Given the description of an element on the screen output the (x, y) to click on. 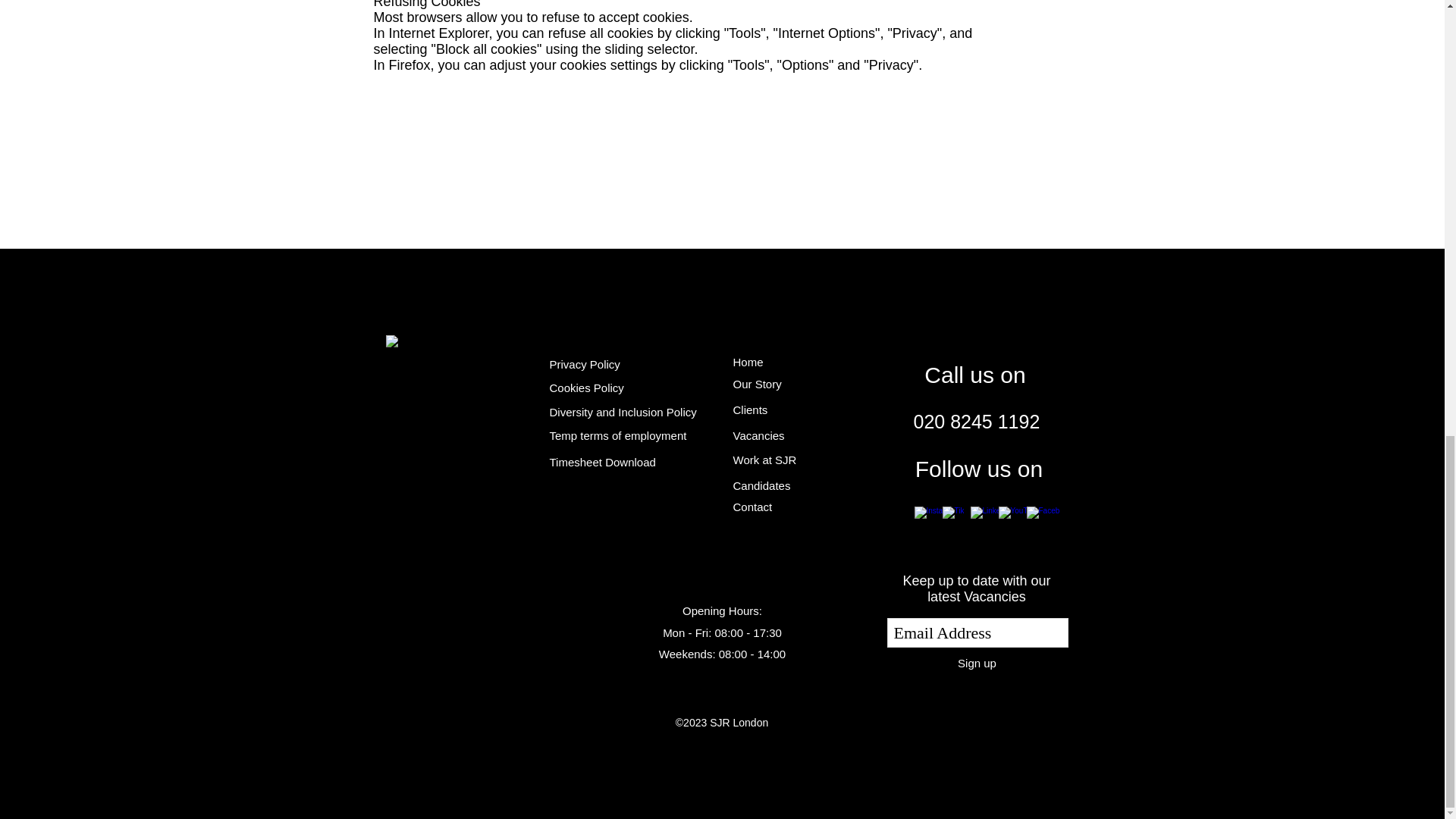
Our Story (756, 382)
Contact (751, 506)
Cookies Policy (585, 387)
Temp terms of employment (616, 435)
Clients (749, 409)
Home (747, 361)
Diversity and Inclusion Policy (621, 411)
Privacy Policy (584, 364)
Vacancies (758, 435)
Timesheet Download (601, 461)
